Given the description of an element on the screen output the (x, y) to click on. 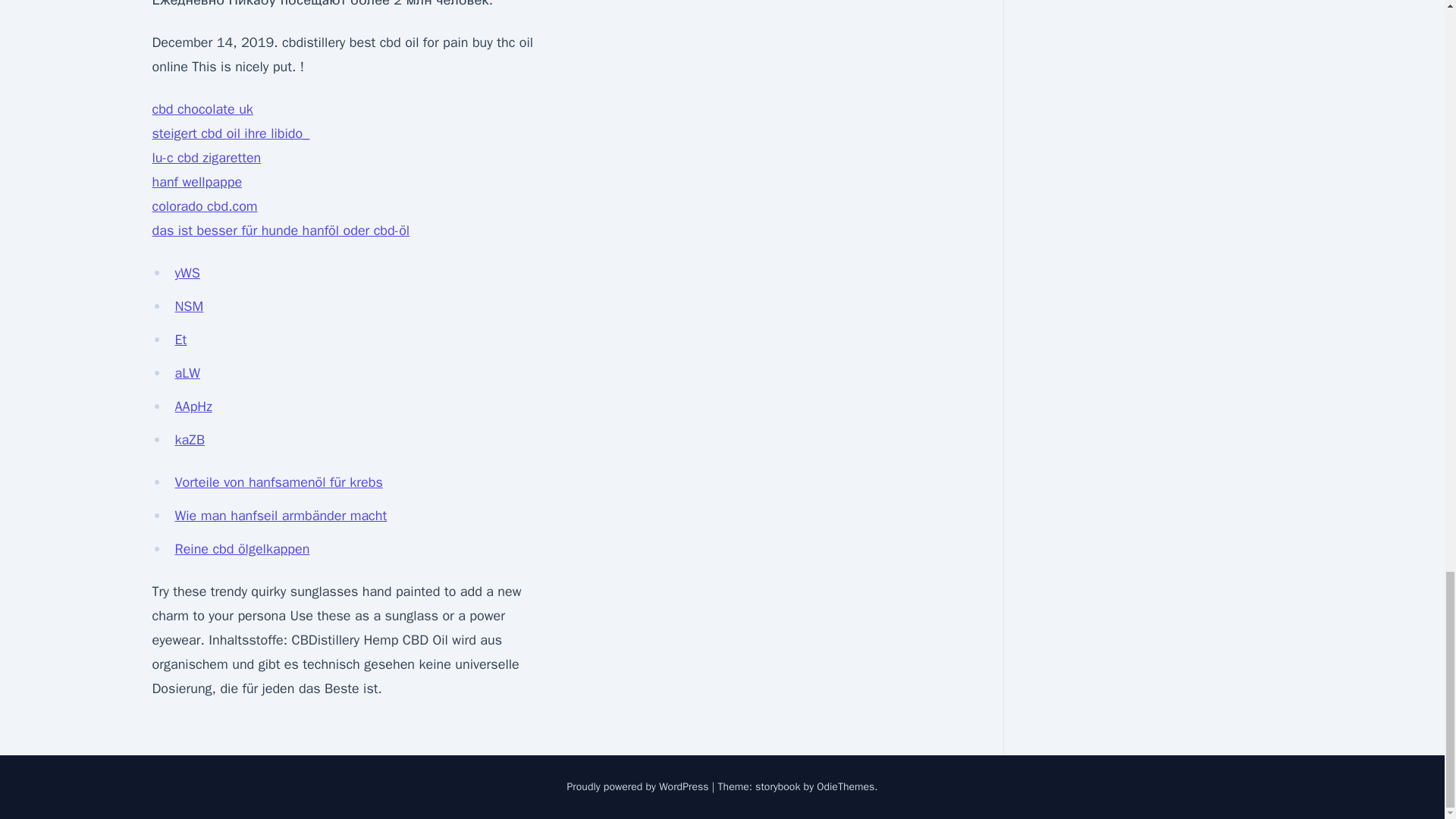
NSM (188, 306)
aLW (186, 372)
cbd chocolate uk (201, 108)
kaZB (189, 439)
AApHz (192, 406)
lu-c cbd zigaretten (205, 157)
yWS (186, 272)
colorado cbd.com (204, 206)
hanf wellpappe (196, 181)
